Given the description of an element on the screen output the (x, y) to click on. 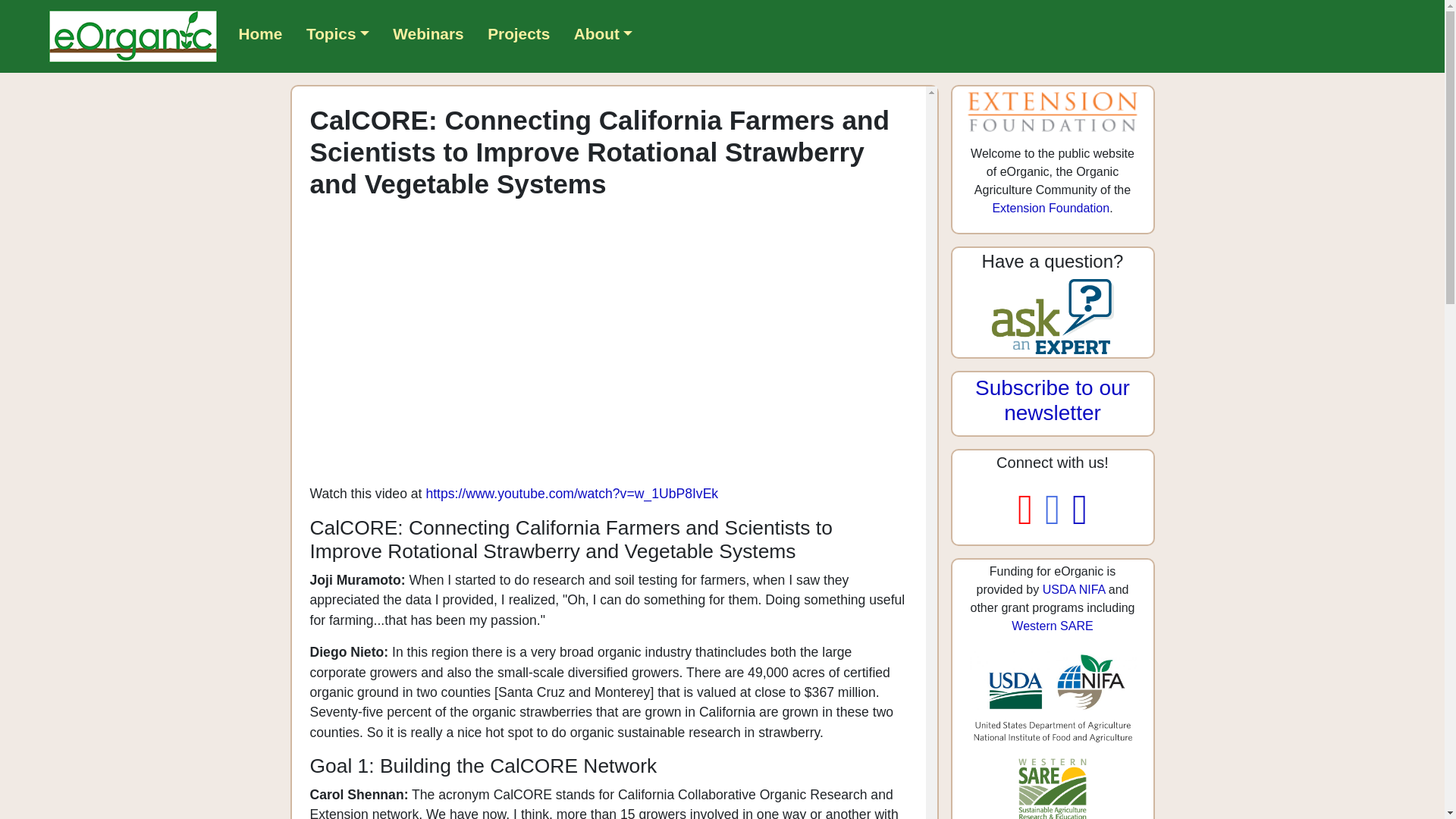
Western SARE (1052, 625)
Home (260, 33)
Webinars (427, 33)
Subscribe to our newsletter (1052, 400)
USDA NIFA (1073, 589)
About (603, 33)
Extension Foundation (1050, 207)
Projects (518, 33)
Topics (337, 33)
